Given the description of an element on the screen output the (x, y) to click on. 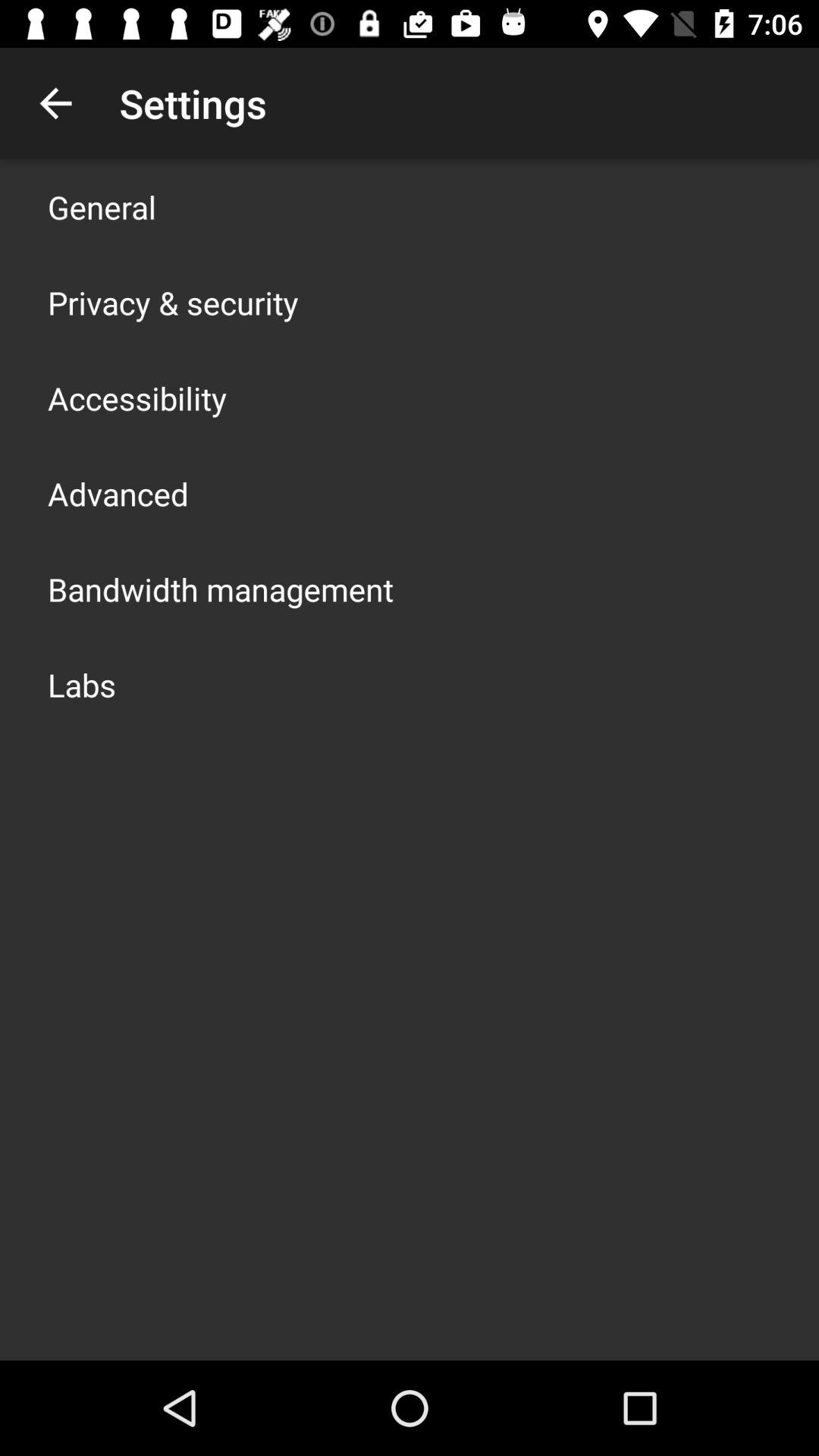
choose the app below the bandwidth management (81, 684)
